Given the description of an element on the screen output the (x, y) to click on. 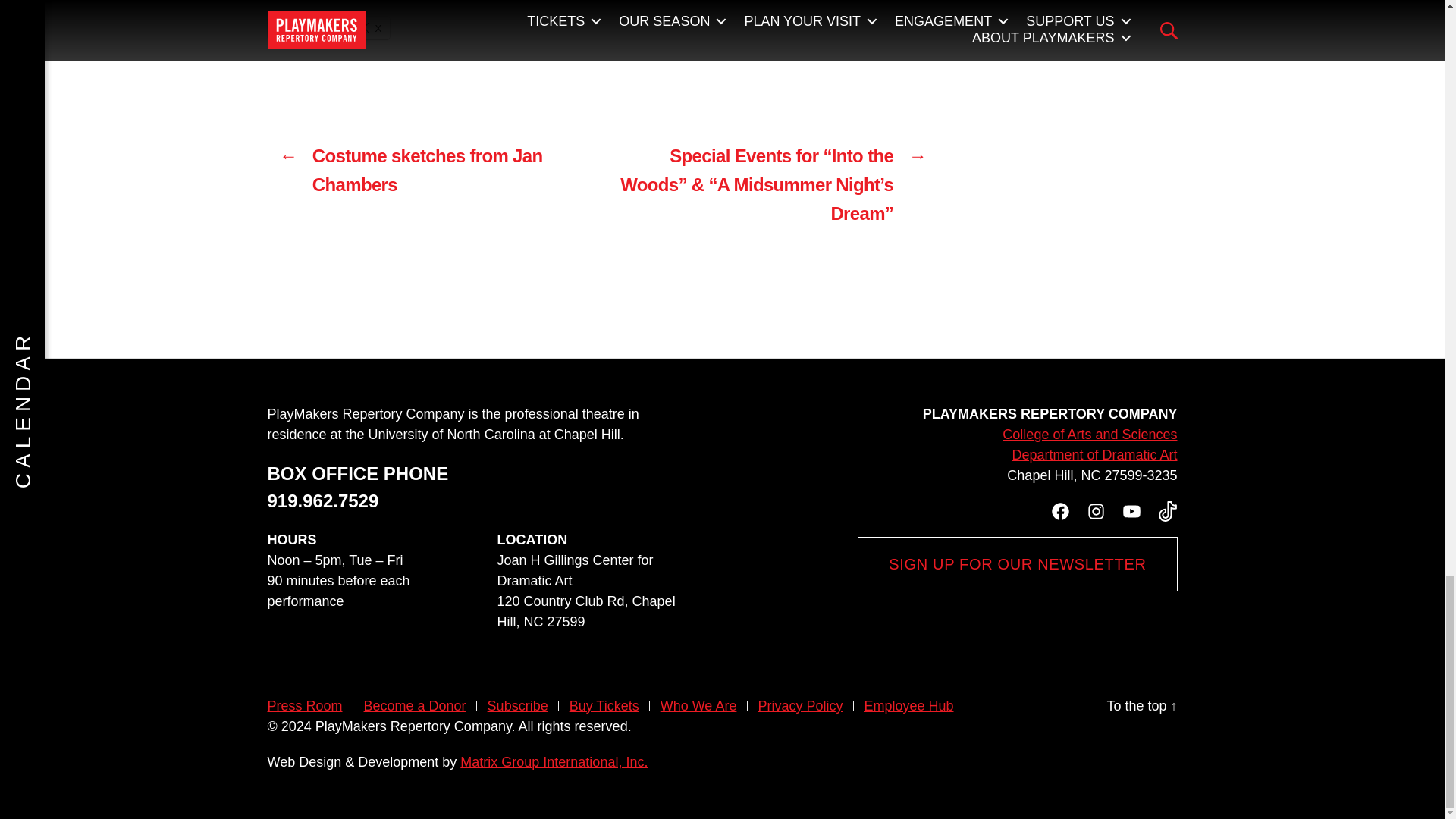
Click to share on X (370, 27)
Click to share on Facebook (304, 27)
